Given the description of an element on the screen output the (x, y) to click on. 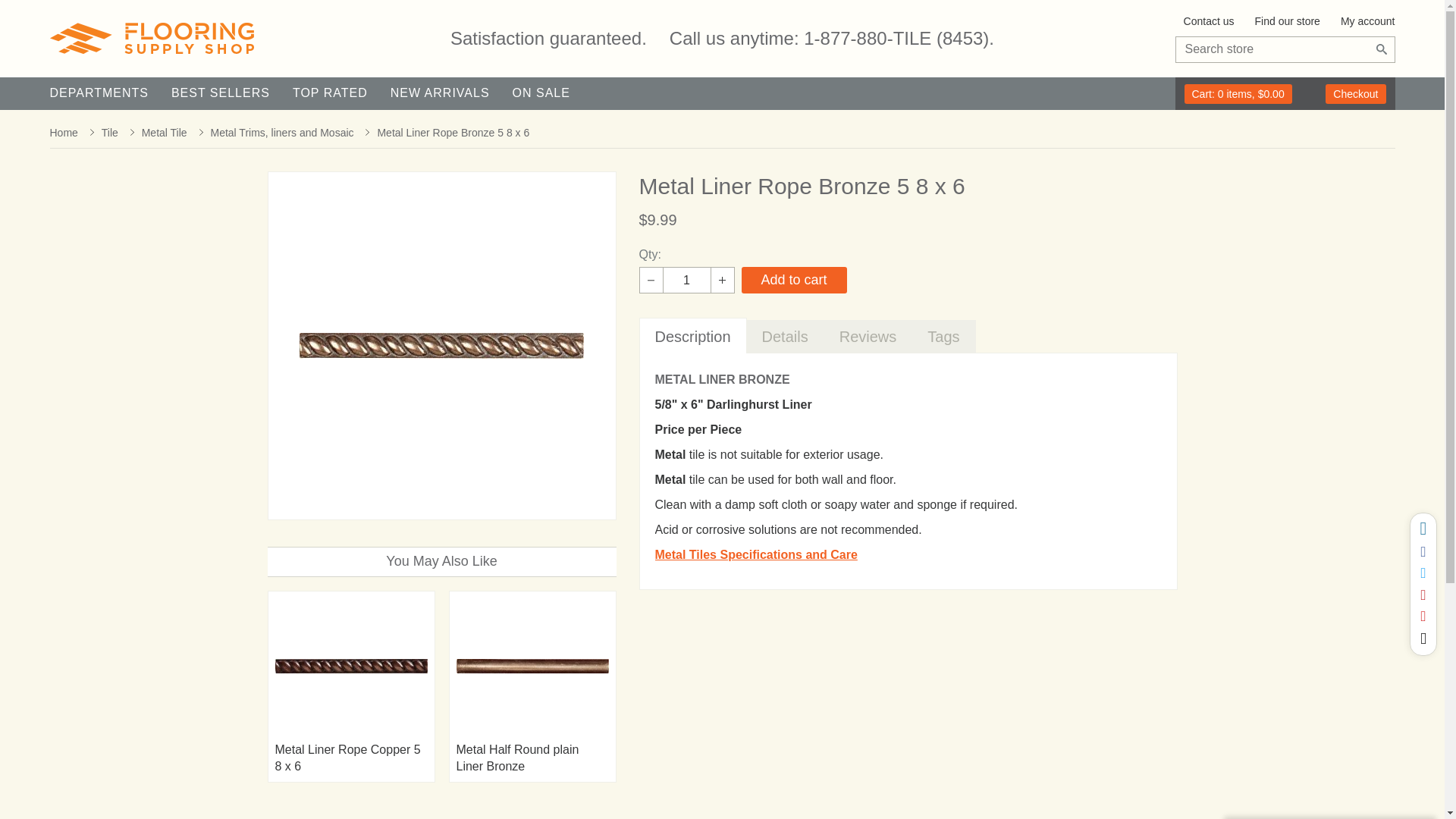
1 (686, 279)
